Given the description of an element on the screen output the (x, y) to click on. 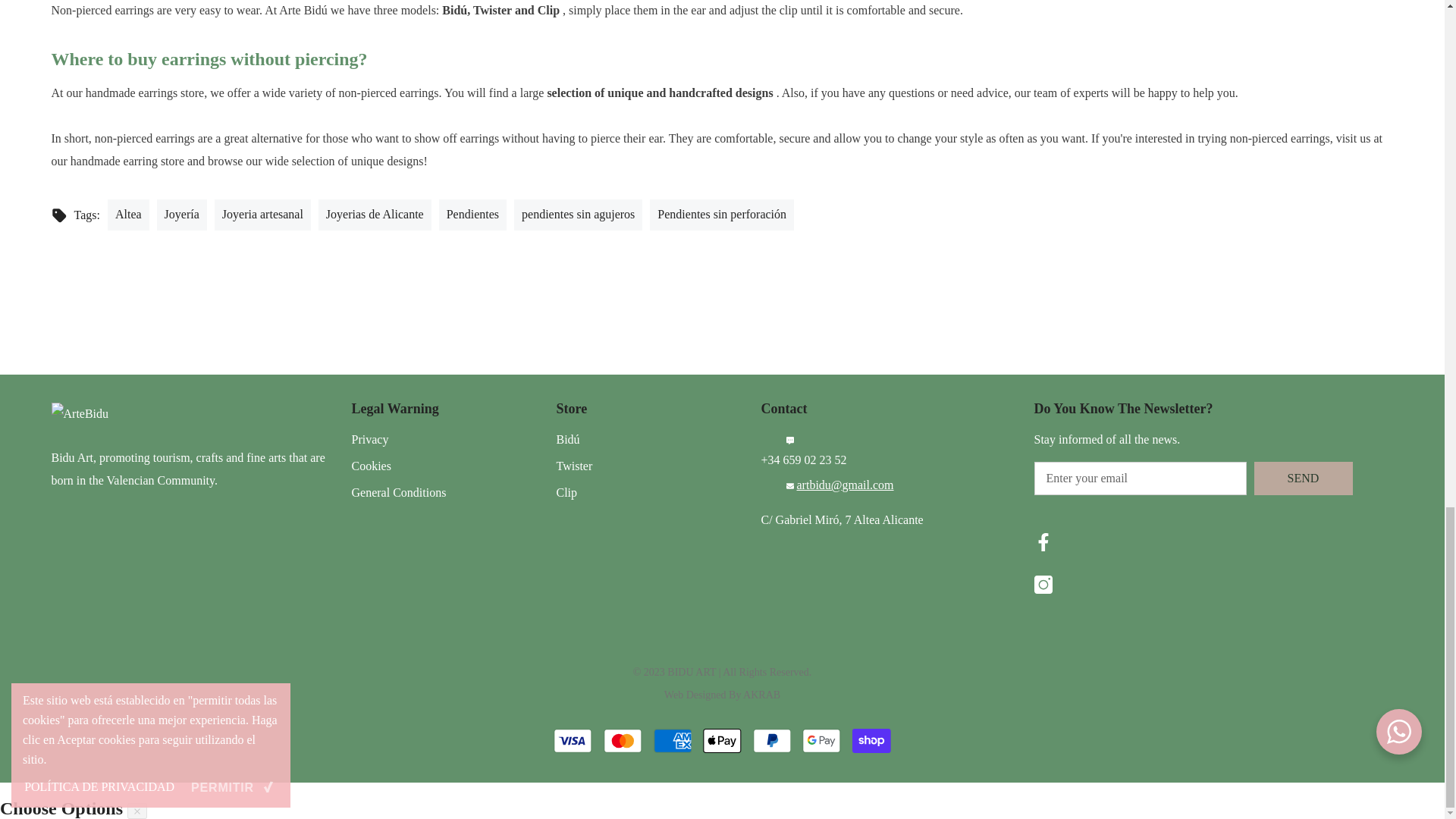
Joyerias de Alicante (374, 214)
Mastercard (623, 740)
PayPal (772, 740)
Apple Pay (722, 740)
Pendientes (472, 214)
Shop Pay (871, 740)
Google Pay (821, 740)
pendientes sin agujeros (577, 214)
Joyeria artesanal (262, 214)
American Express (672, 740)
